Given the description of an element on the screen output the (x, y) to click on. 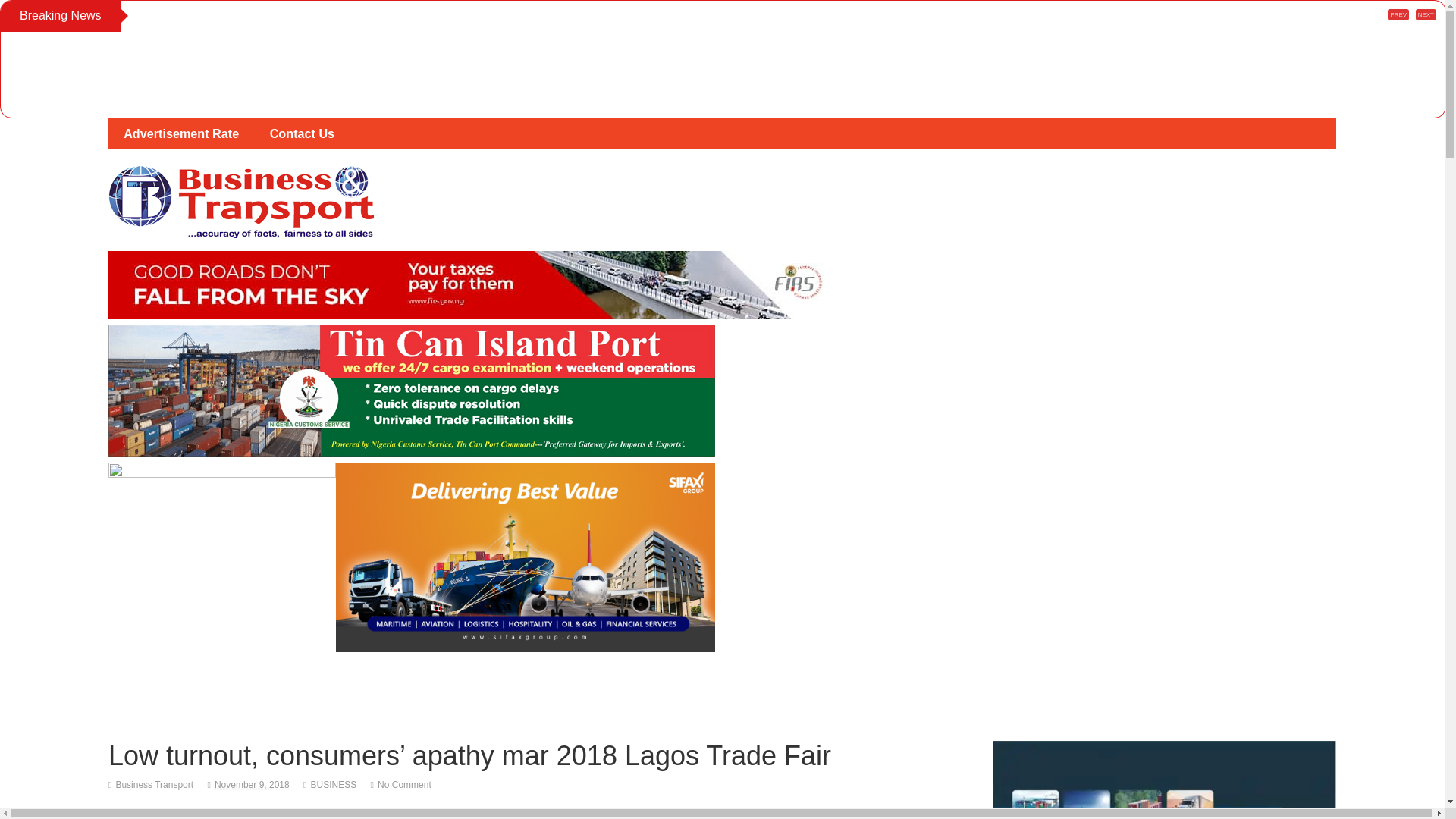
Business Transport (154, 784)
Contact Us (301, 132)
BUSINESS (333, 784)
Advertisement Rate (180, 132)
Posts by Business Transport (154, 784)
No Comment (403, 784)
